Given the description of an element on the screen output the (x, y) to click on. 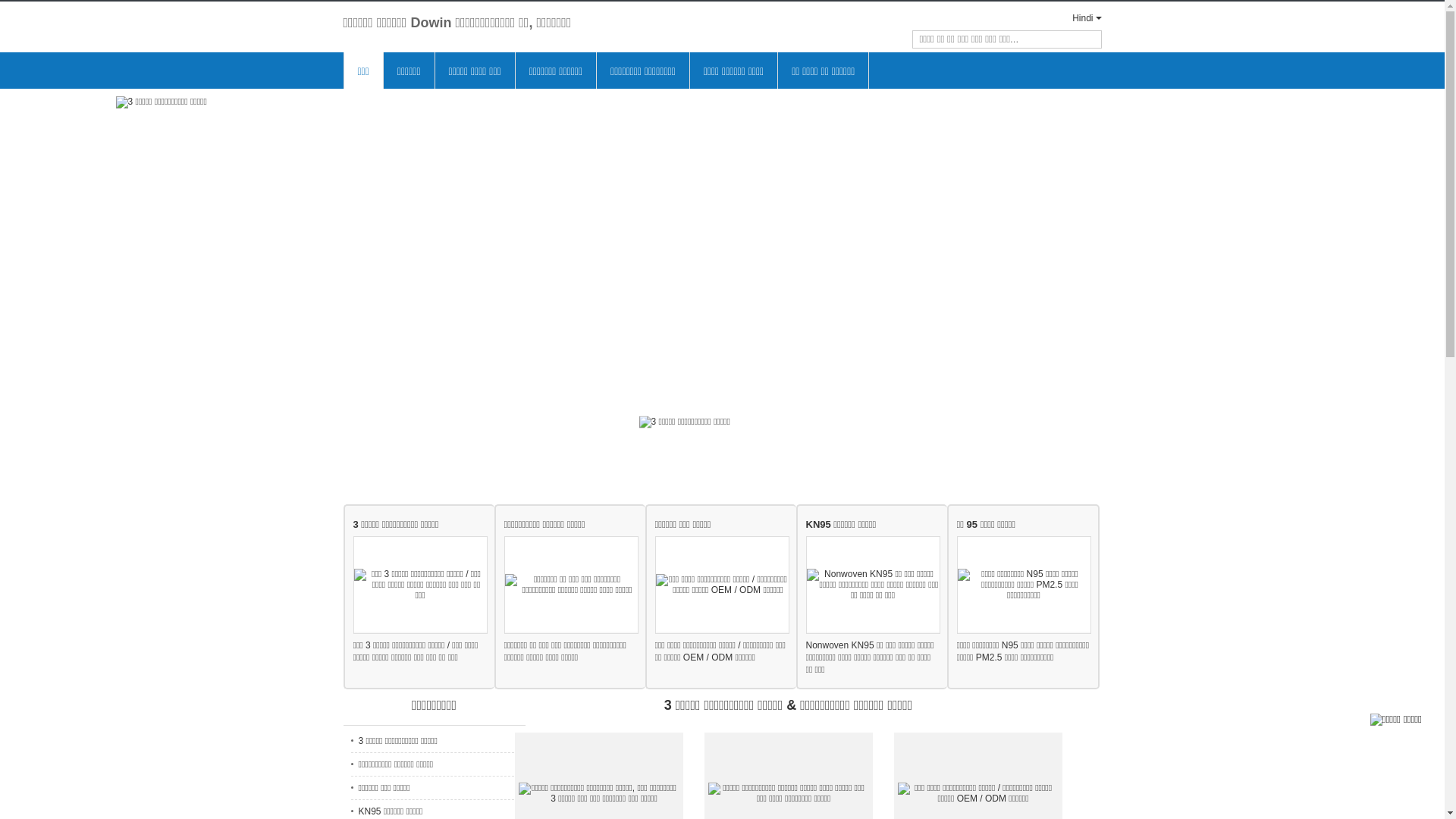
Hindi Element type: text (1073, 17)
